Given the description of an element on the screen output the (x, y) to click on. 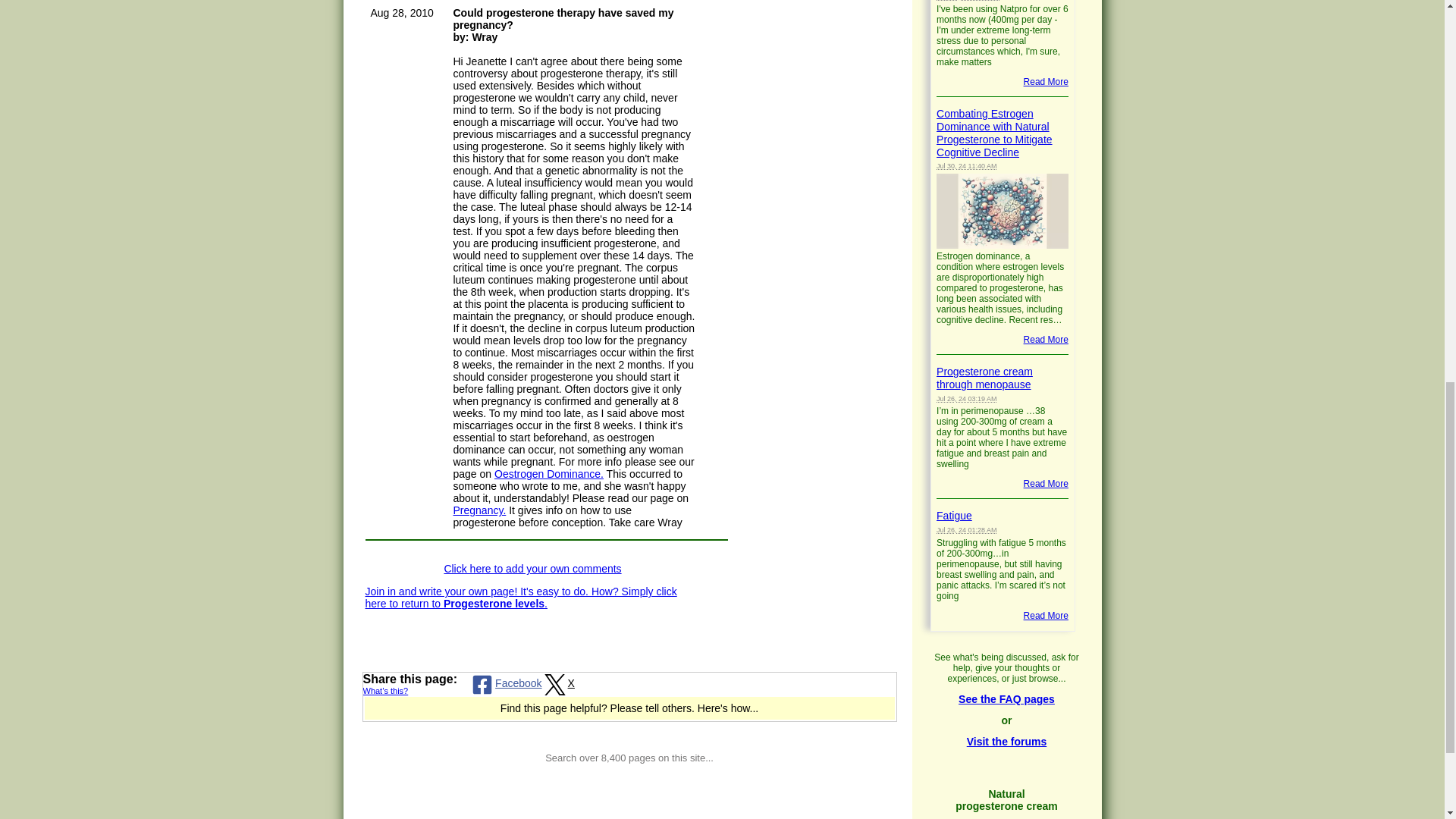
2024-07-26T03:19:18-0400 (966, 398)
2024-07-26T01:28:12-0400 (966, 529)
2024-08-10T06:30:31-0400 (968, 0)
2024-07-30T11:40:51-0400 (966, 165)
